Given the description of an element on the screen output the (x, y) to click on. 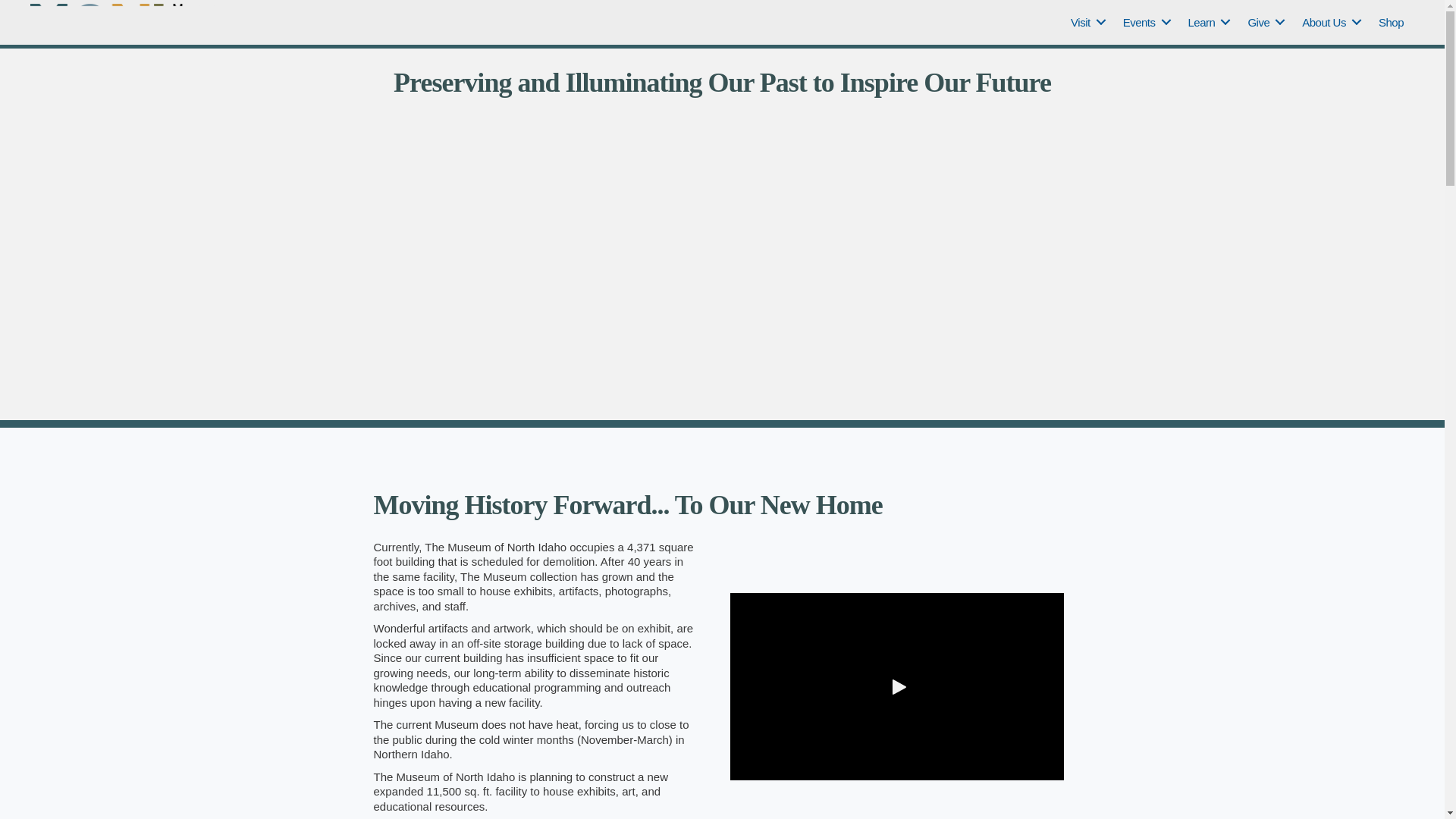
Learn (1206, 22)
Give (1263, 22)
Events (1144, 22)
Visit (1085, 22)
About Us (1329, 22)
Shop (1390, 22)
